Given the description of an element on the screen output the (x, y) to click on. 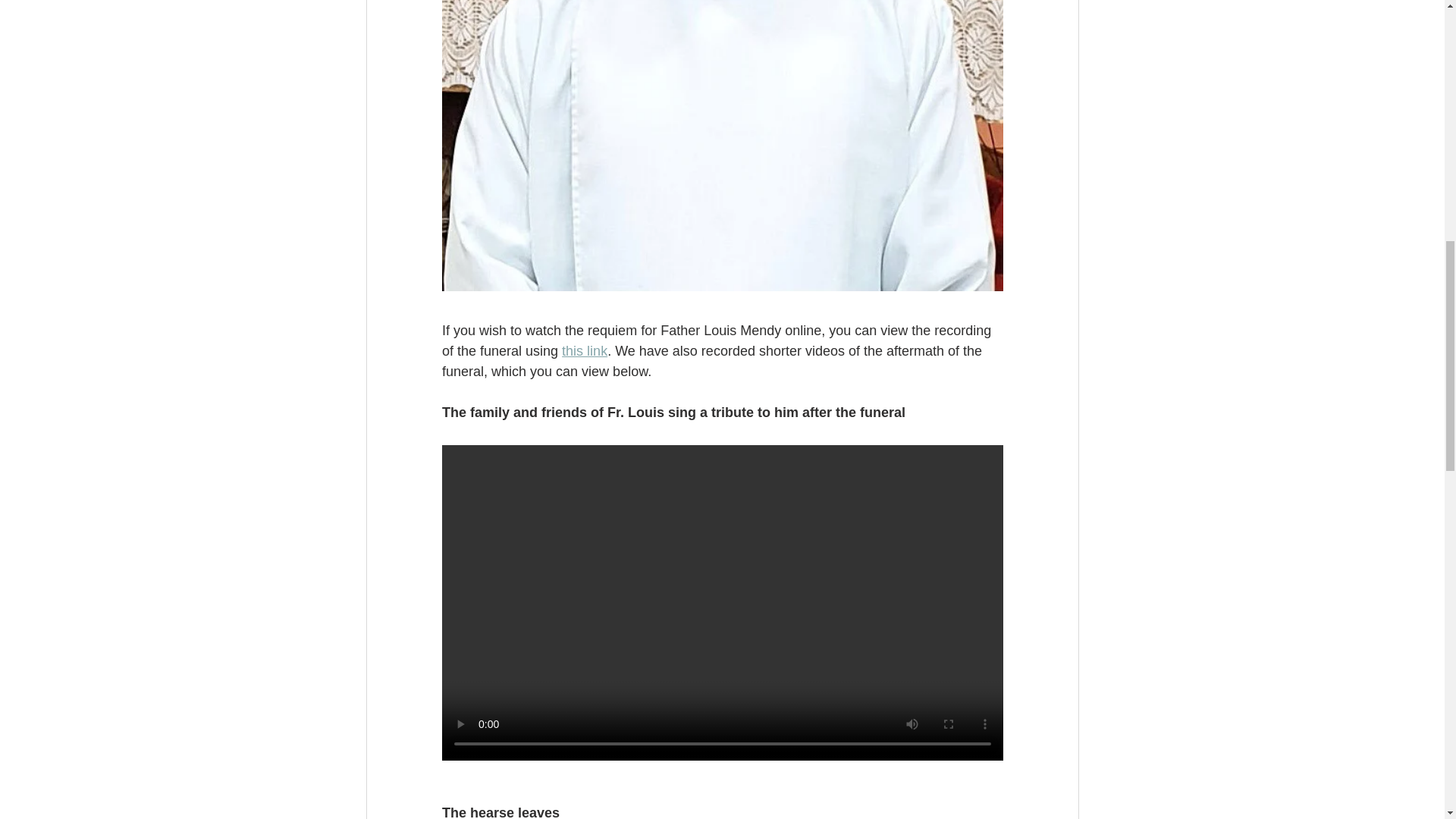
this link (584, 350)
